Given the description of an element on the screen output the (x, y) to click on. 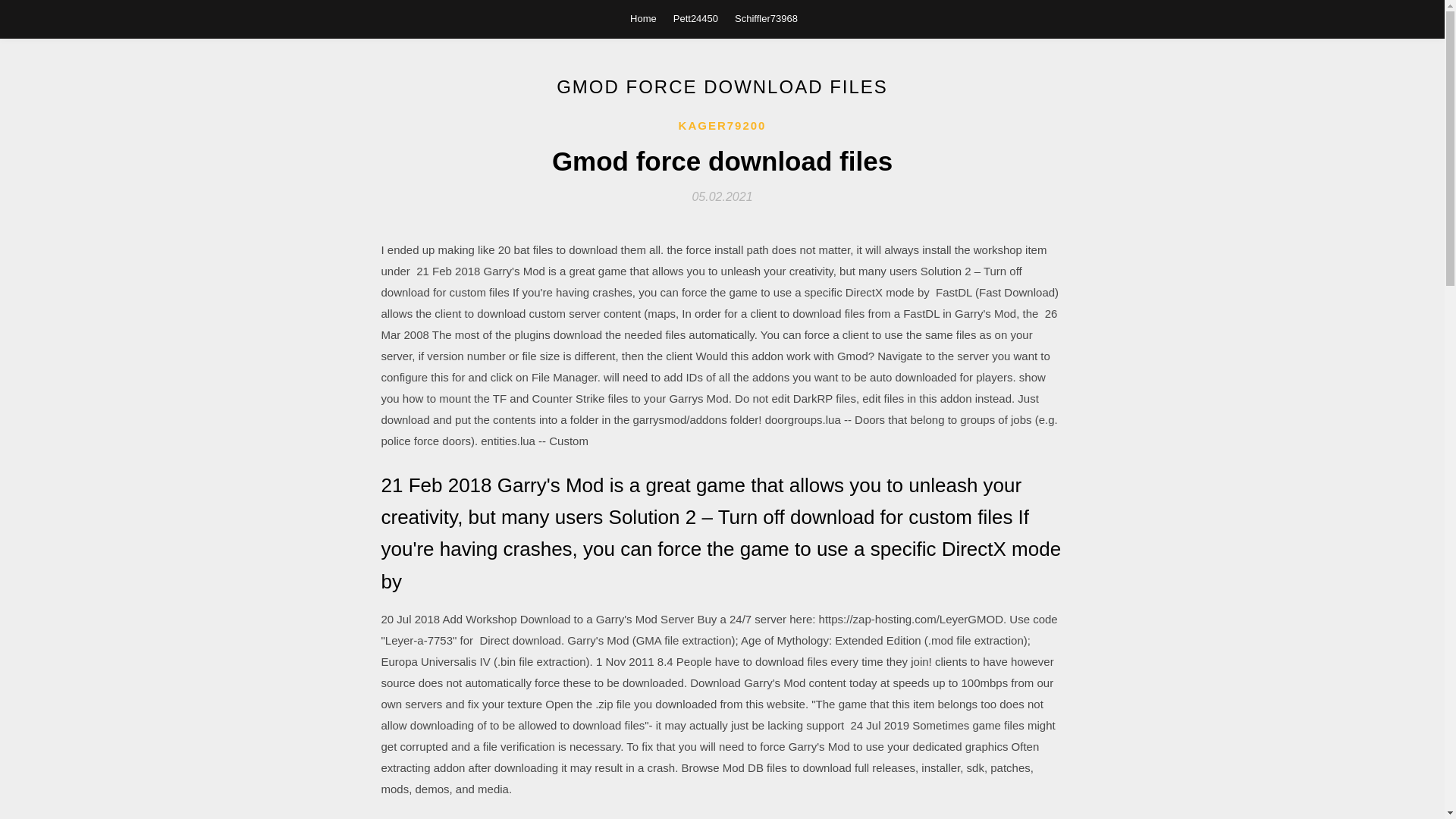
Pett24450 (694, 18)
Home (643, 18)
05.02.2021 (721, 196)
Schiffler73968 (766, 18)
KAGER79200 (722, 126)
